Given the description of an element on the screen output the (x, y) to click on. 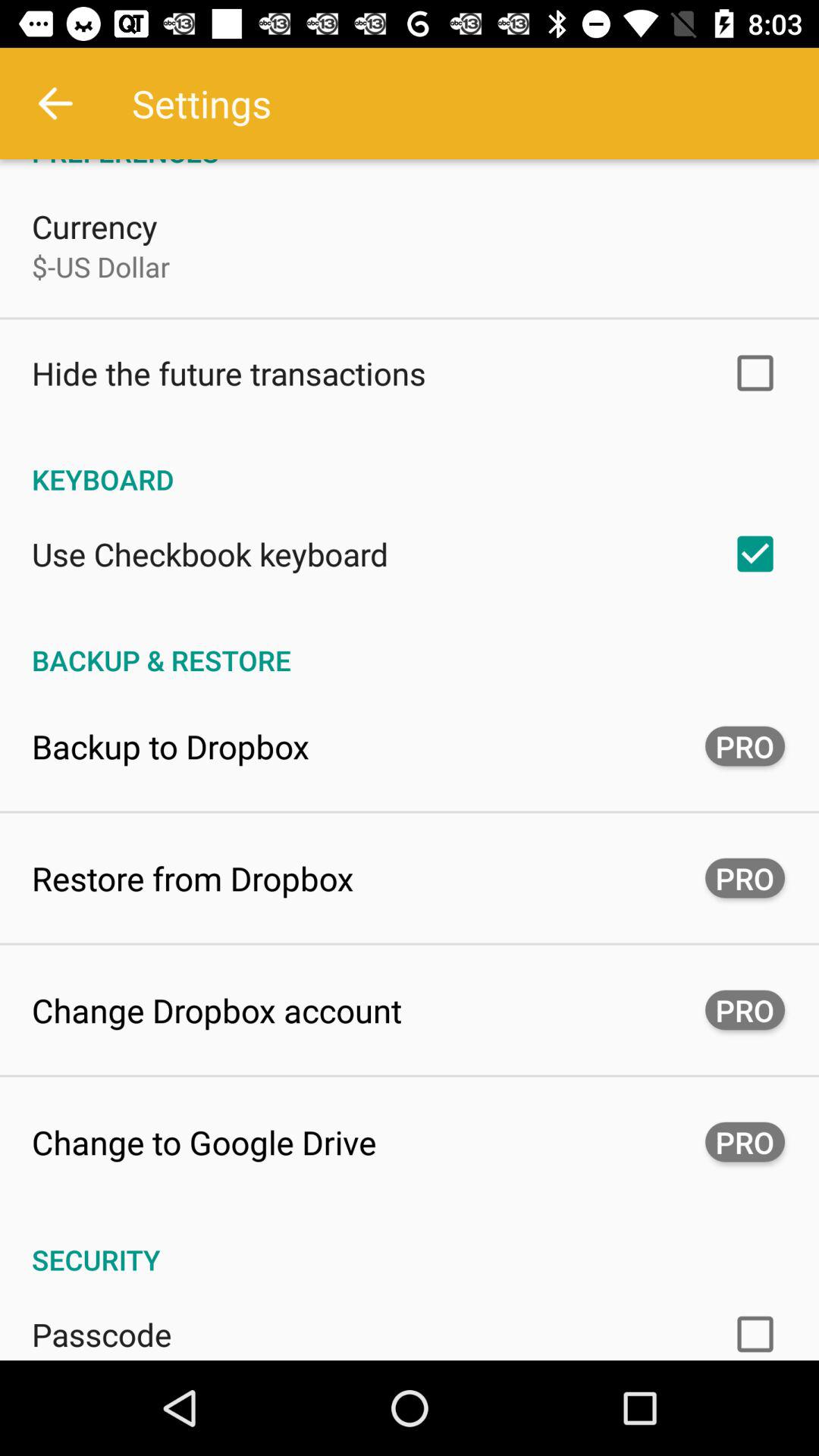
turn off the icon below backup & restore (170, 746)
